Given the description of an element on the screen output the (x, y) to click on. 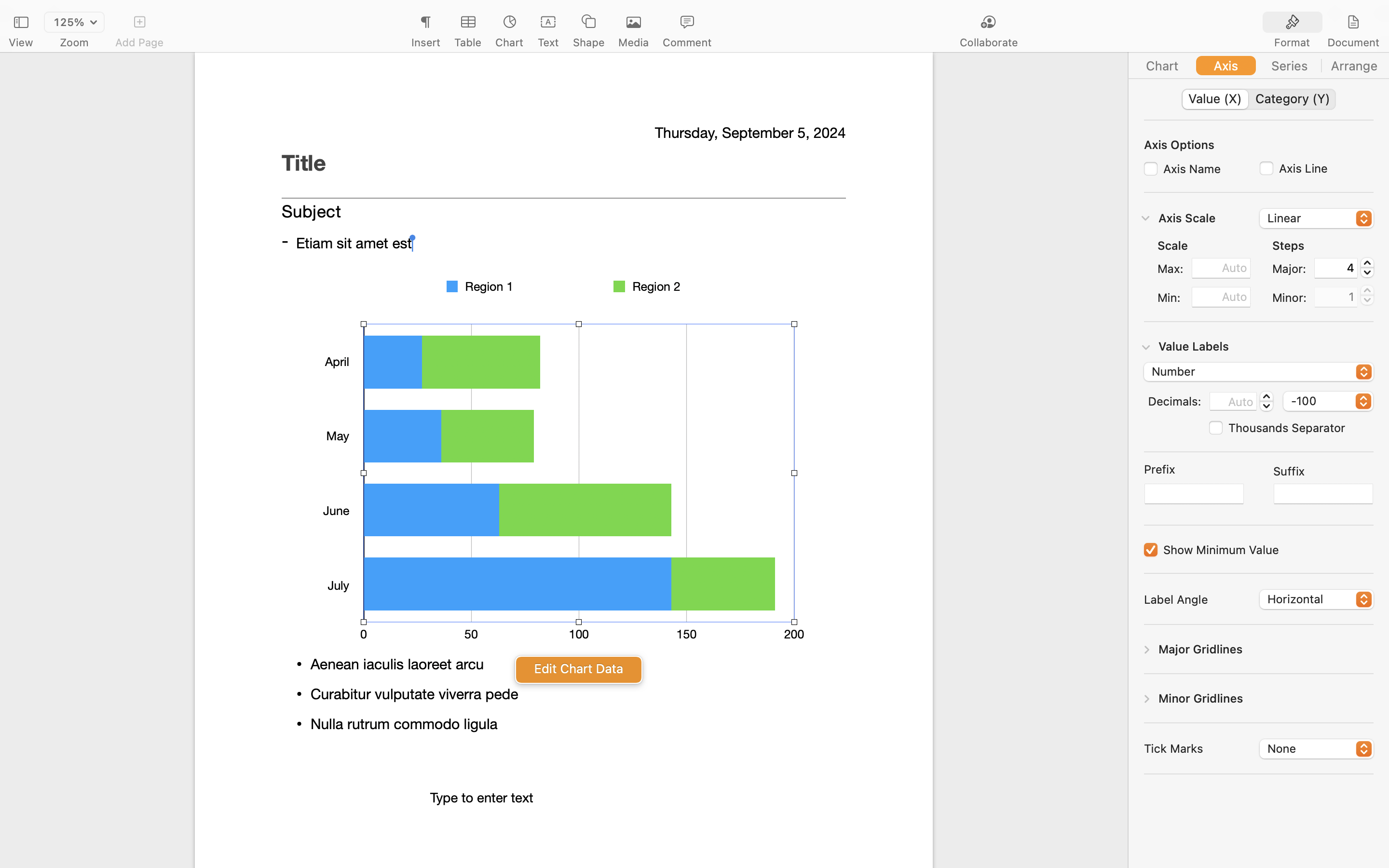
Prefix Element type: AXStaticText (1159, 469)
Min: Element type: AXStaticText (1170, 297)
Media Element type: AXStaticText (633, 42)
Learn More Element type: AXStaticText (562, 309)
